Given the description of an element on the screen output the (x, y) to click on. 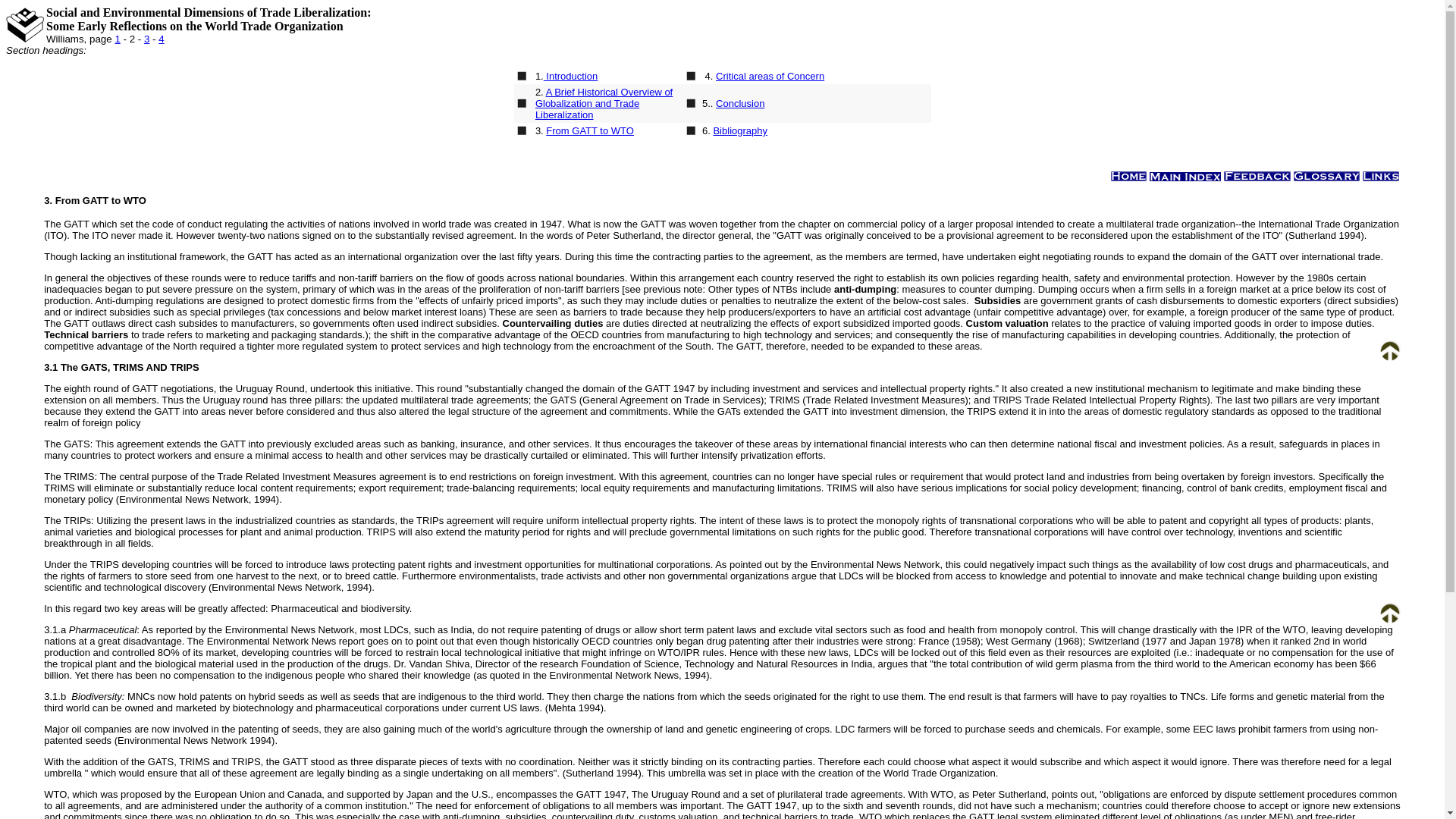
Bibliography (740, 130)
Introduction (570, 75)
Critical areas of Concern (770, 75)
Conclusion (740, 102)
From GATT to WTO (589, 130)
3. (49, 200)
